Given the description of an element on the screen output the (x, y) to click on. 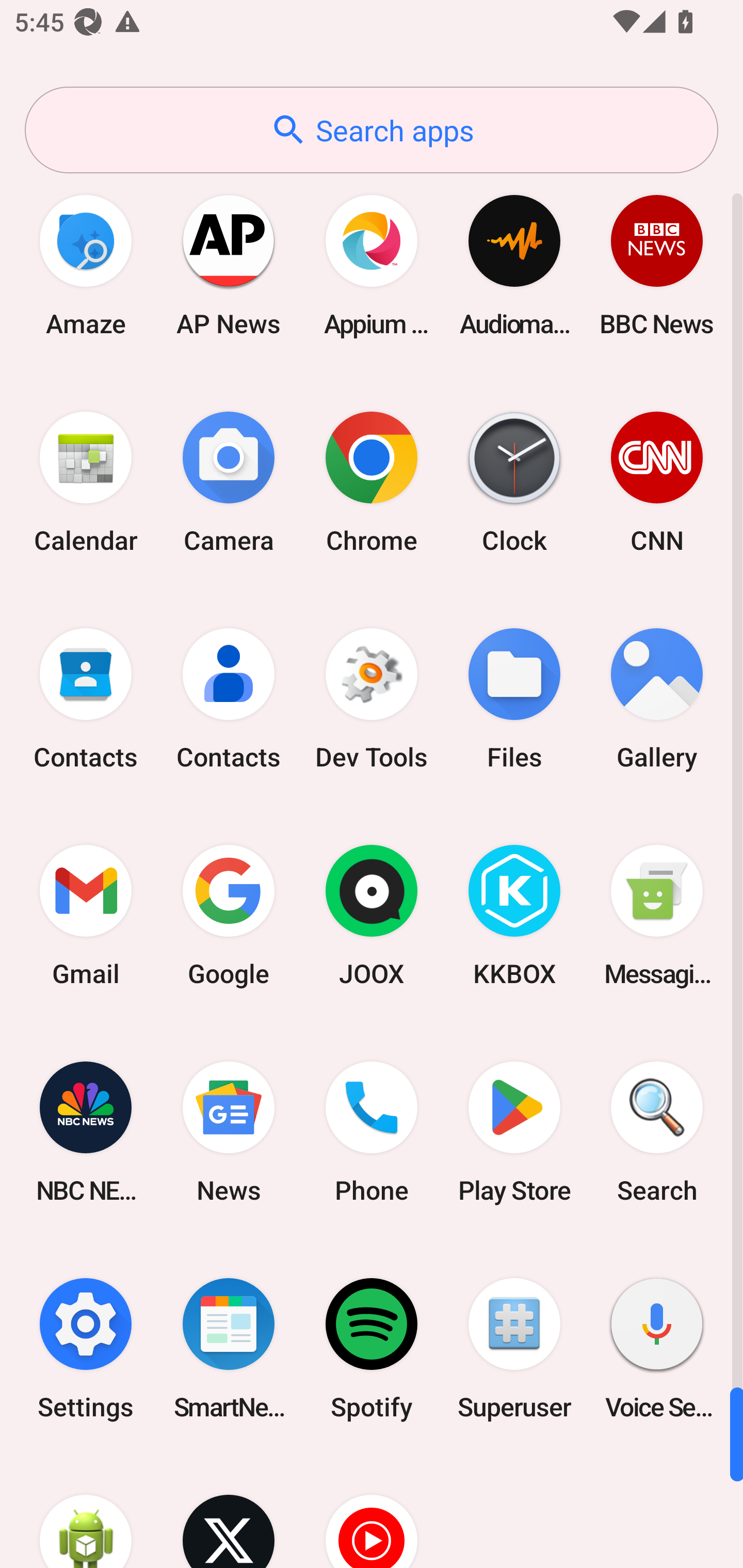
  Search apps (371, 130)
Amaze (85, 264)
AP News (228, 264)
Appium Settings (371, 264)
Audio­mack (514, 264)
BBC News (656, 264)
Calendar (85, 482)
Camera (228, 482)
Chrome (371, 482)
Clock (514, 482)
CNN (656, 482)
Contacts (85, 699)
Contacts (228, 699)
Dev Tools (371, 699)
Files (514, 699)
Gallery (656, 699)
Gmail (85, 915)
Google (228, 915)
JOOX (371, 915)
KKBOX (514, 915)
Messaging (656, 915)
NBC NEWS (85, 1131)
News (228, 1131)
Phone (371, 1131)
Play Store (514, 1131)
Search (656, 1131)
Settings (85, 1348)
SmartNews (228, 1348)
Spotify (371, 1348)
Superuser (514, 1348)
Voice Search (656, 1348)
WebView Browser Tester (85, 1512)
X (228, 1512)
YT Music (371, 1512)
